Given the description of an element on the screen output the (x, y) to click on. 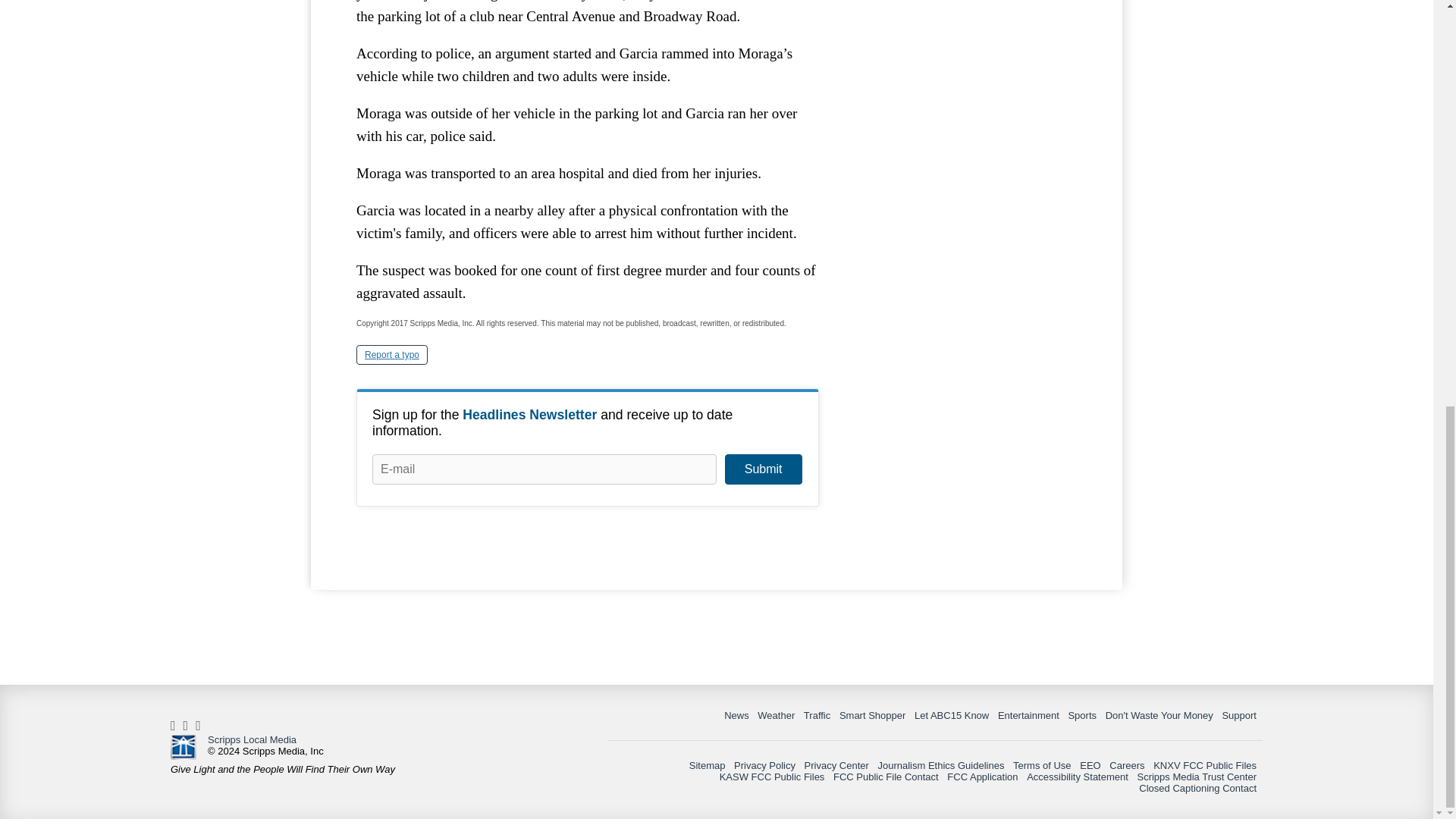
Submit (763, 469)
